Given the description of an element on the screen output the (x, y) to click on. 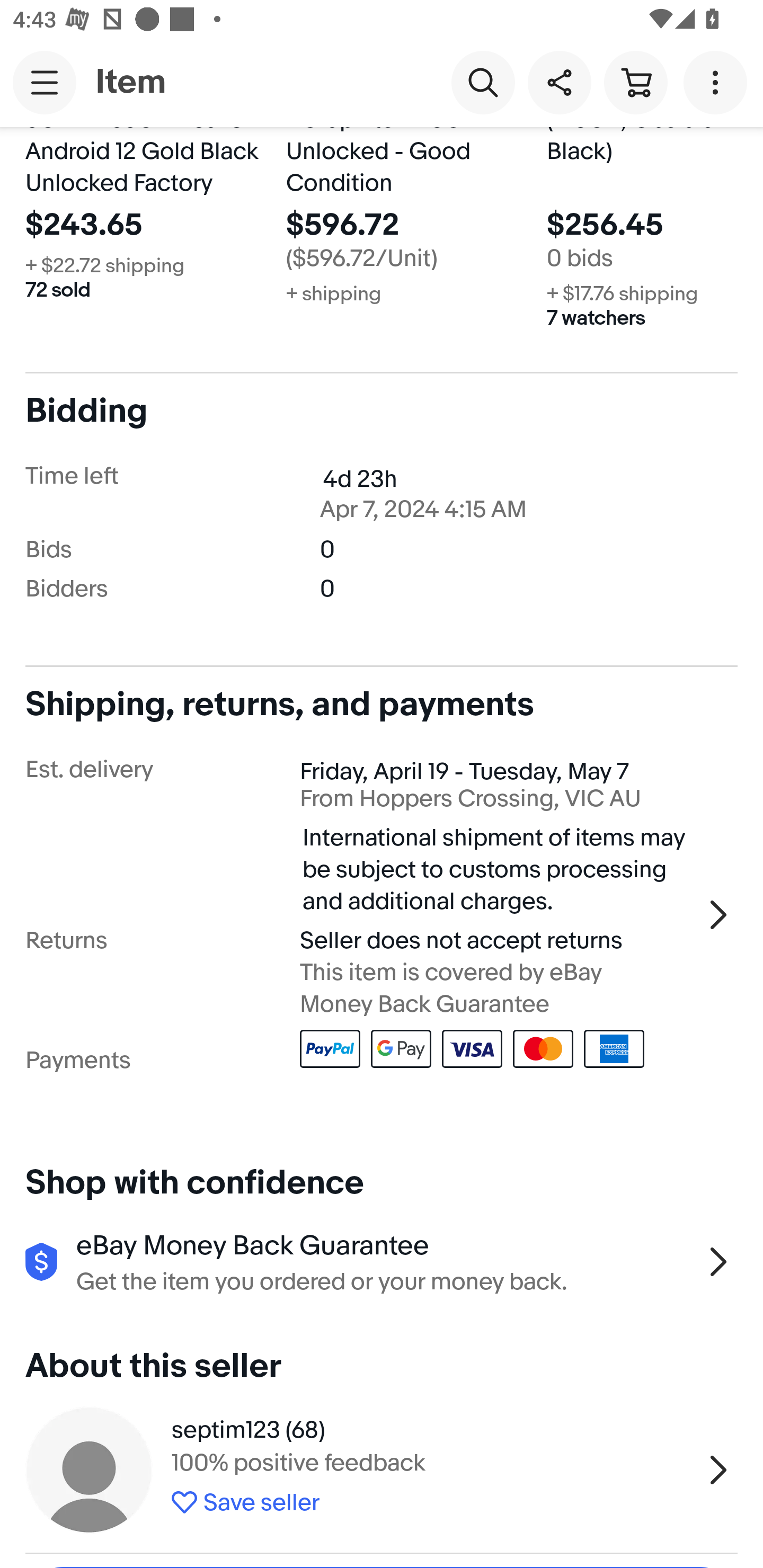
Main navigation, open (44, 82)
Search (482, 81)
Share this item (559, 81)
Cart button shopping cart (635, 81)
More options (718, 81)
Save seller (431, 1498)
